Given the description of an element on the screen output the (x, y) to click on. 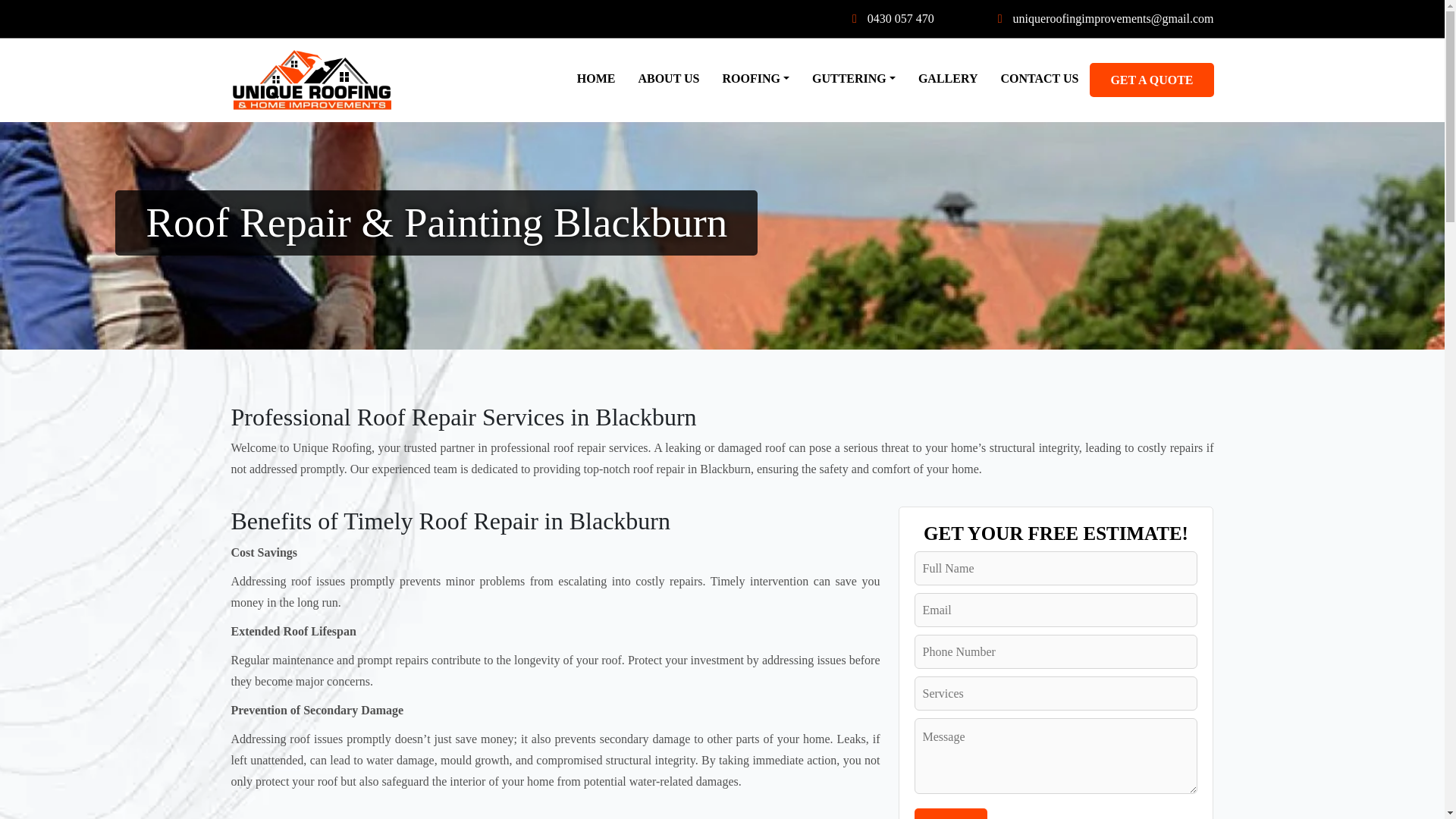
ROOFING (755, 79)
CONTACT US (1038, 79)
GET A QUOTE (1150, 80)
HOME (596, 79)
Submit (950, 813)
0430 057 470 (892, 18)
ABOUT US (668, 79)
GUTTERING (853, 79)
Submit (950, 813)
GALLERY (948, 79)
